Given the description of an element on the screen output the (x, y) to click on. 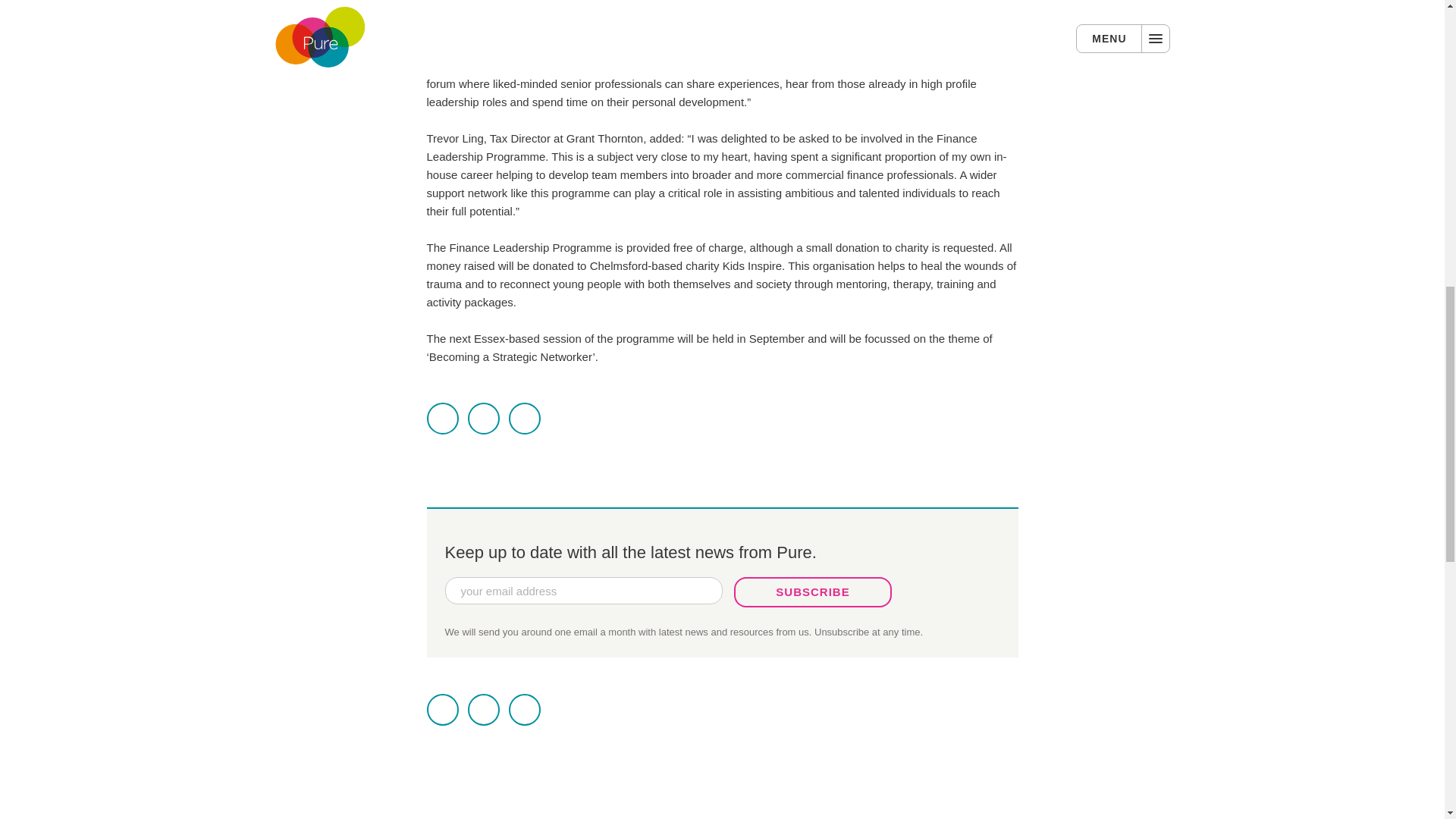
Share on Facebook (483, 418)
Share on X (442, 418)
Share on LinkedIn (524, 418)
Share on X (442, 709)
Share on Facebook (483, 709)
Share on LinkedIn (524, 709)
SUBSCRIBE (812, 592)
